Given the description of an element on the screen output the (x, y) to click on. 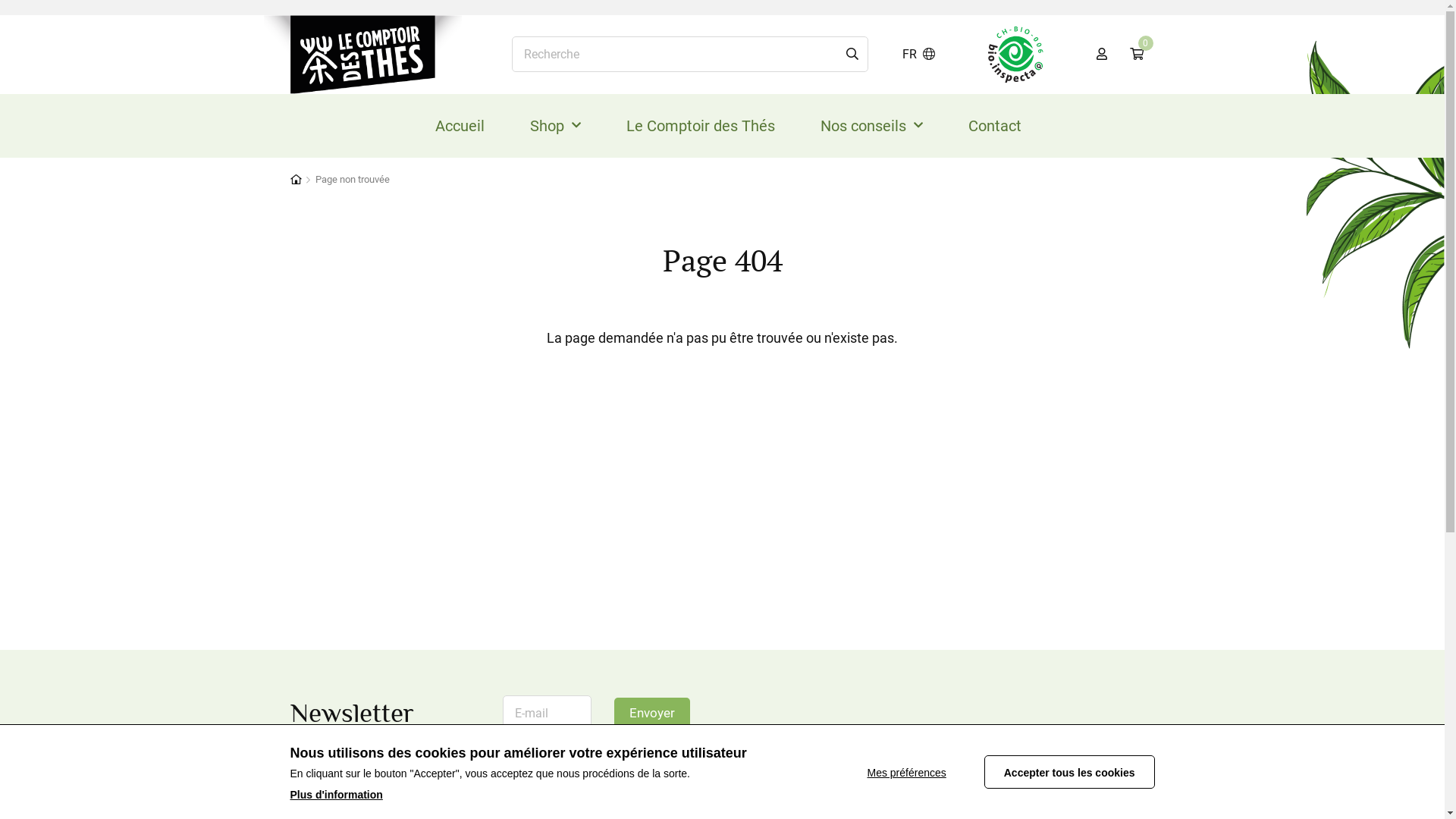
Contact Element type: text (994, 125)
Aller au contenu principal Element type: text (0, 0)
FR   Element type: text (918, 54)
Shop Element type: text (555, 125)
Accepter tous les cookies Element type: text (1069, 771)
Nos conseils Element type: text (871, 125)
Plus d'information Element type: text (335, 794)
Retirer le consentement Element type: text (924, 771)
Rechercher Element type: text (852, 54)
0 Element type: text (1135, 54)
Envoyer Element type: text (652, 713)
Accueil Element type: text (459, 125)
